Given the description of an element on the screen output the (x, y) to click on. 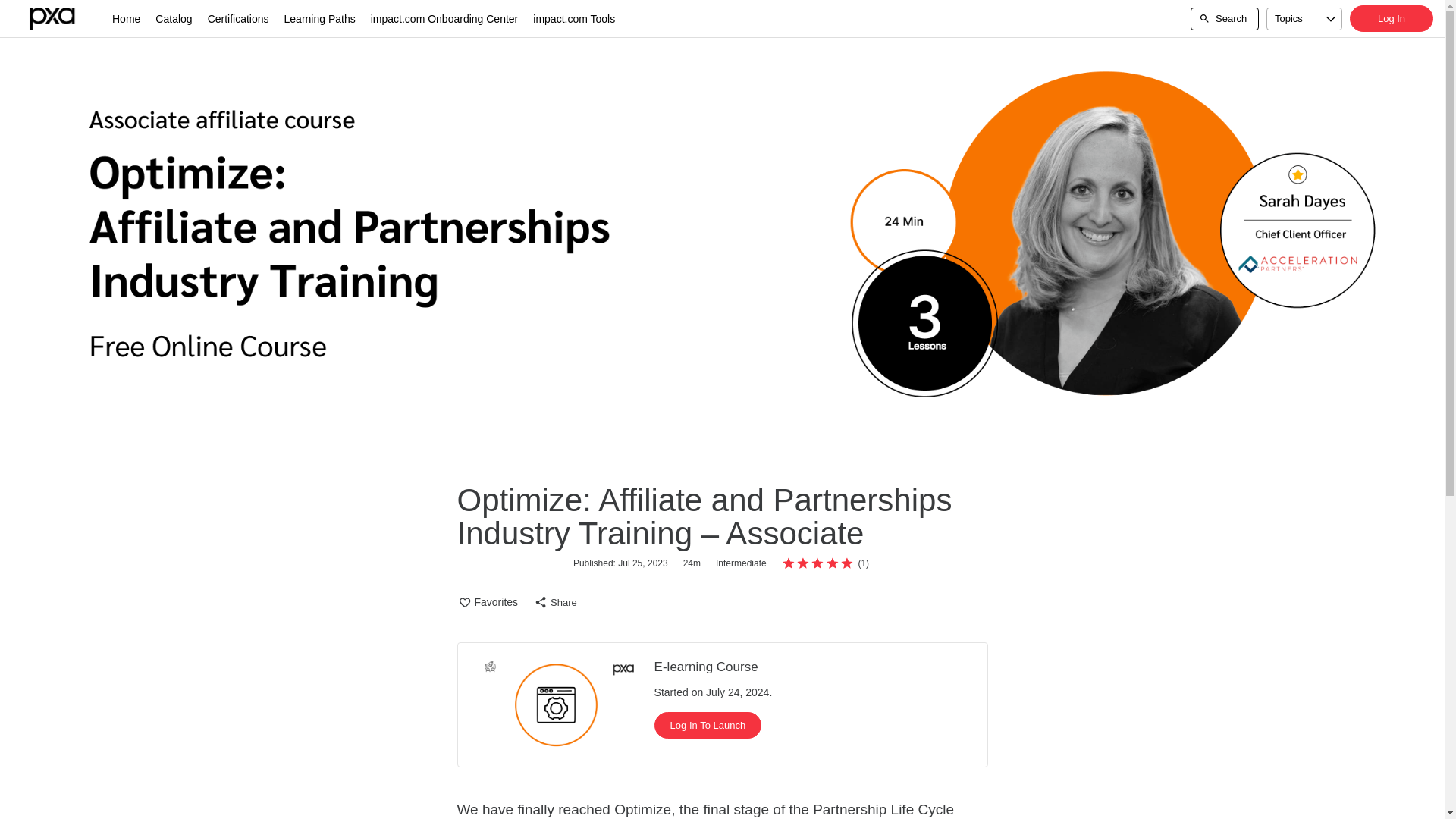
impact.com Tools (574, 18)
Log In (1390, 17)
Certifications (238, 18)
Log In To Launch (707, 724)
Catalog (173, 18)
impact.com Onboarding Center (443, 18)
Topics (1304, 18)
Share (562, 601)
Submit (21, 7)
Learning Paths (319, 18)
Home (126, 18)
